Given the description of an element on the screen output the (x, y) to click on. 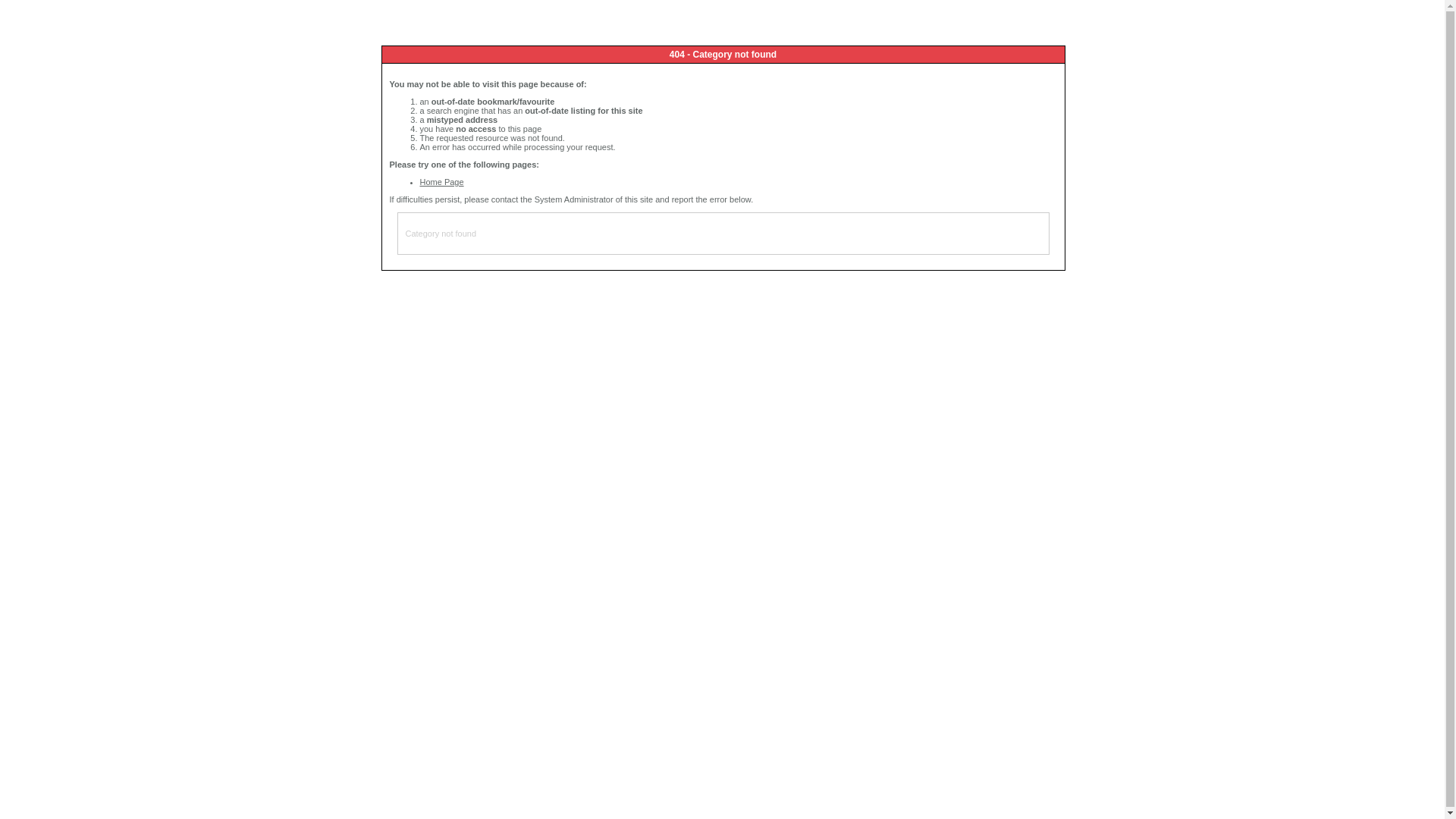
Home Page Element type: text (442, 181)
